Given the description of an element on the screen output the (x, y) to click on. 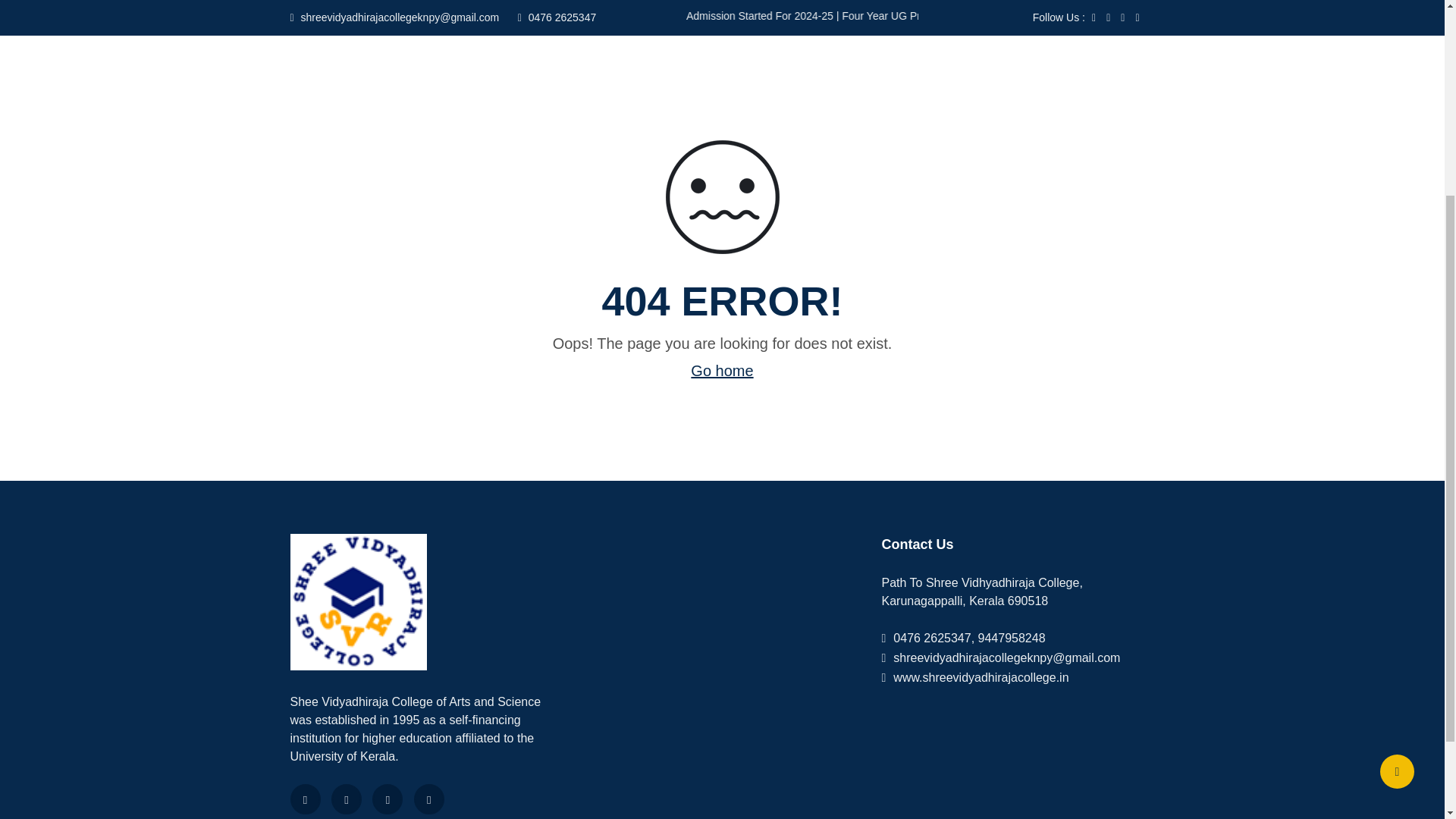
Youtube (387, 798)
Go home (721, 370)
Facebook (304, 798)
Instagram (428, 798)
Twitter (346, 798)
